Given the description of an element on the screen output the (x, y) to click on. 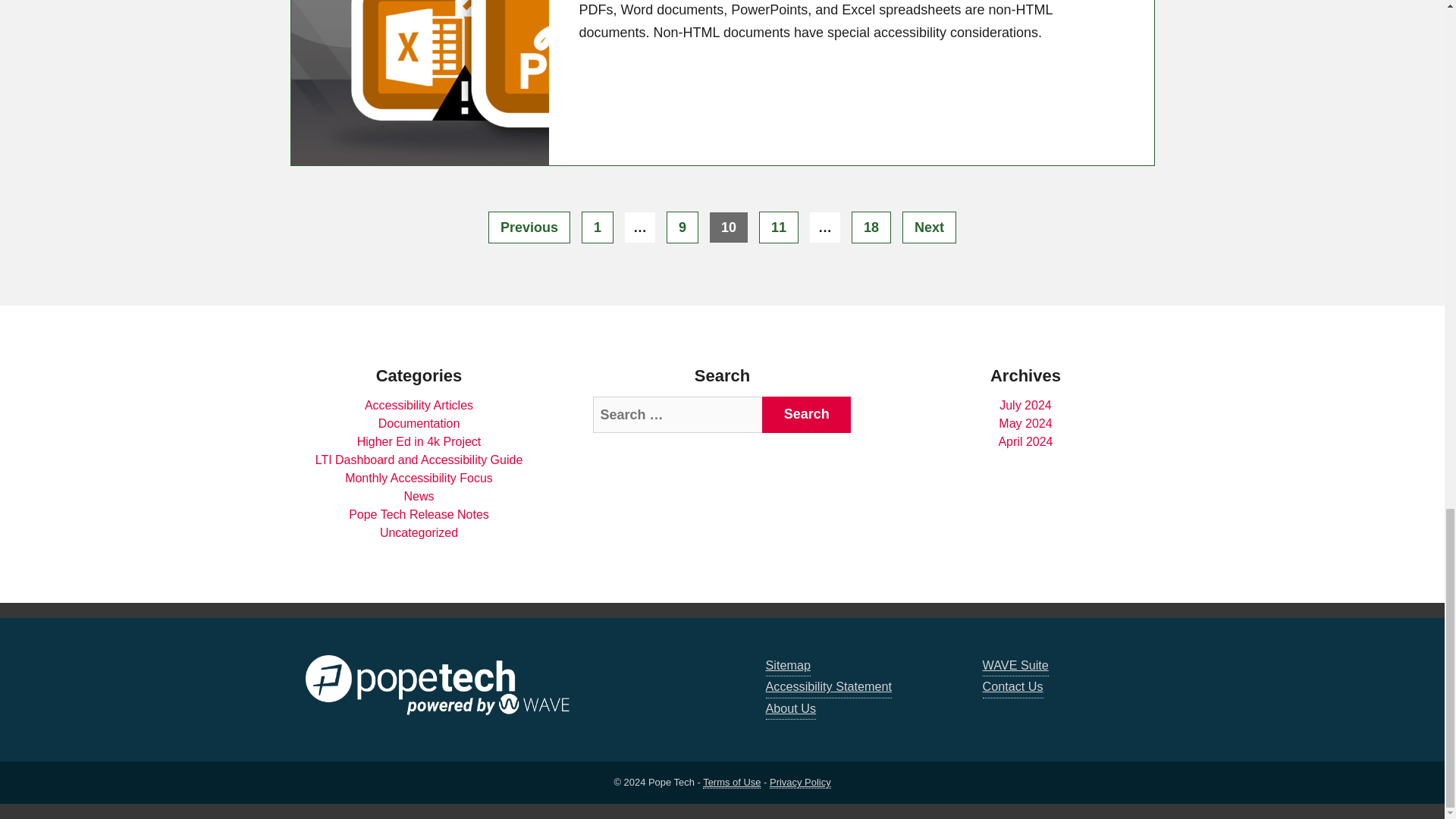
Accessibility Statement (871, 227)
Higher Ed in 4k Project (828, 687)
May 2024 (418, 440)
Monthly Accessibility Focus (1024, 422)
Next (419, 477)
About Us (929, 227)
Search (777, 227)
July 2024 (790, 709)
